Given the description of an element on the screen output the (x, y) to click on. 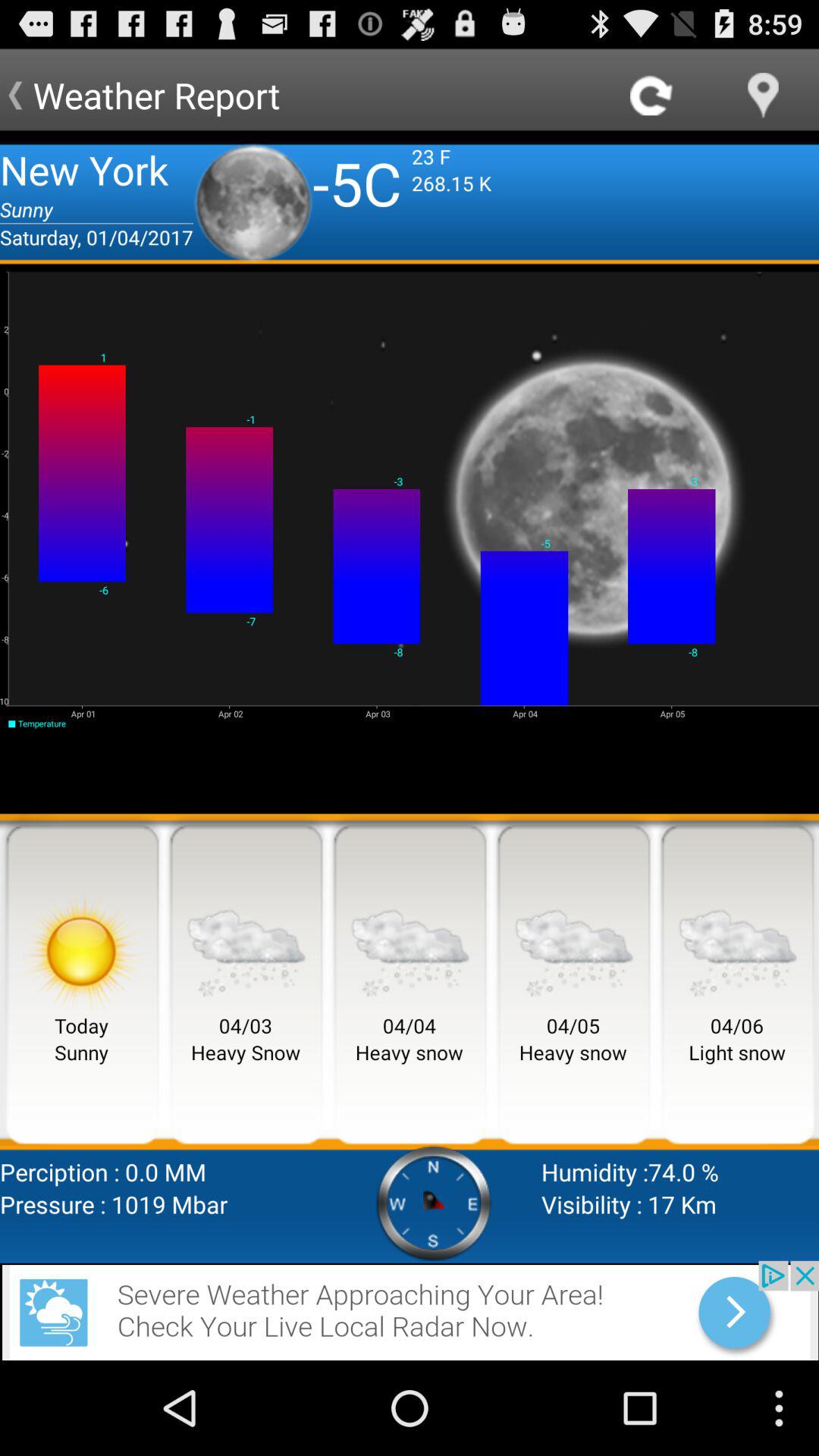
refresh page (651, 95)
